Given the description of an element on the screen output the (x, y) to click on. 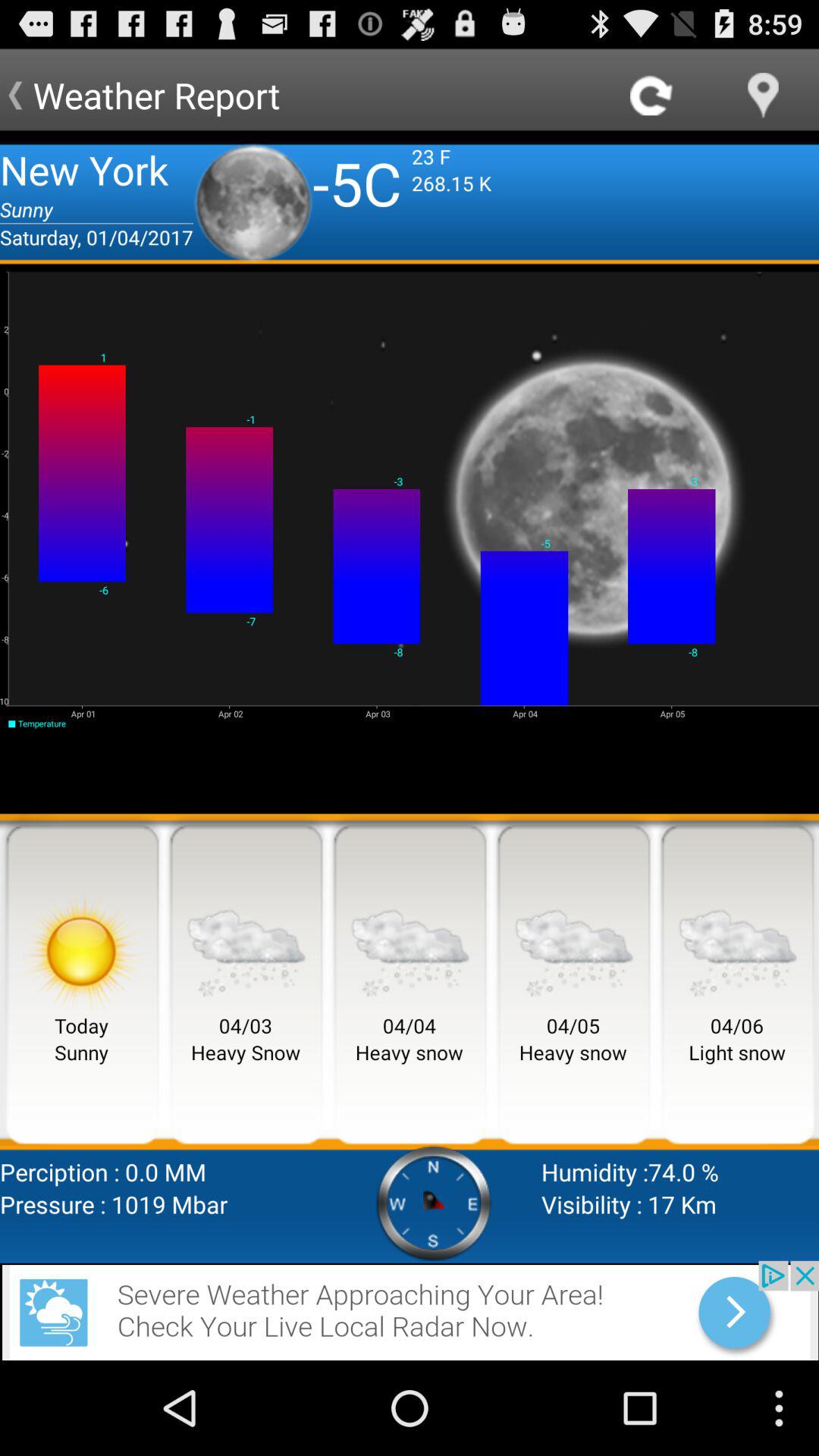
refresh page (651, 95)
